Given the description of an element on the screen output the (x, y) to click on. 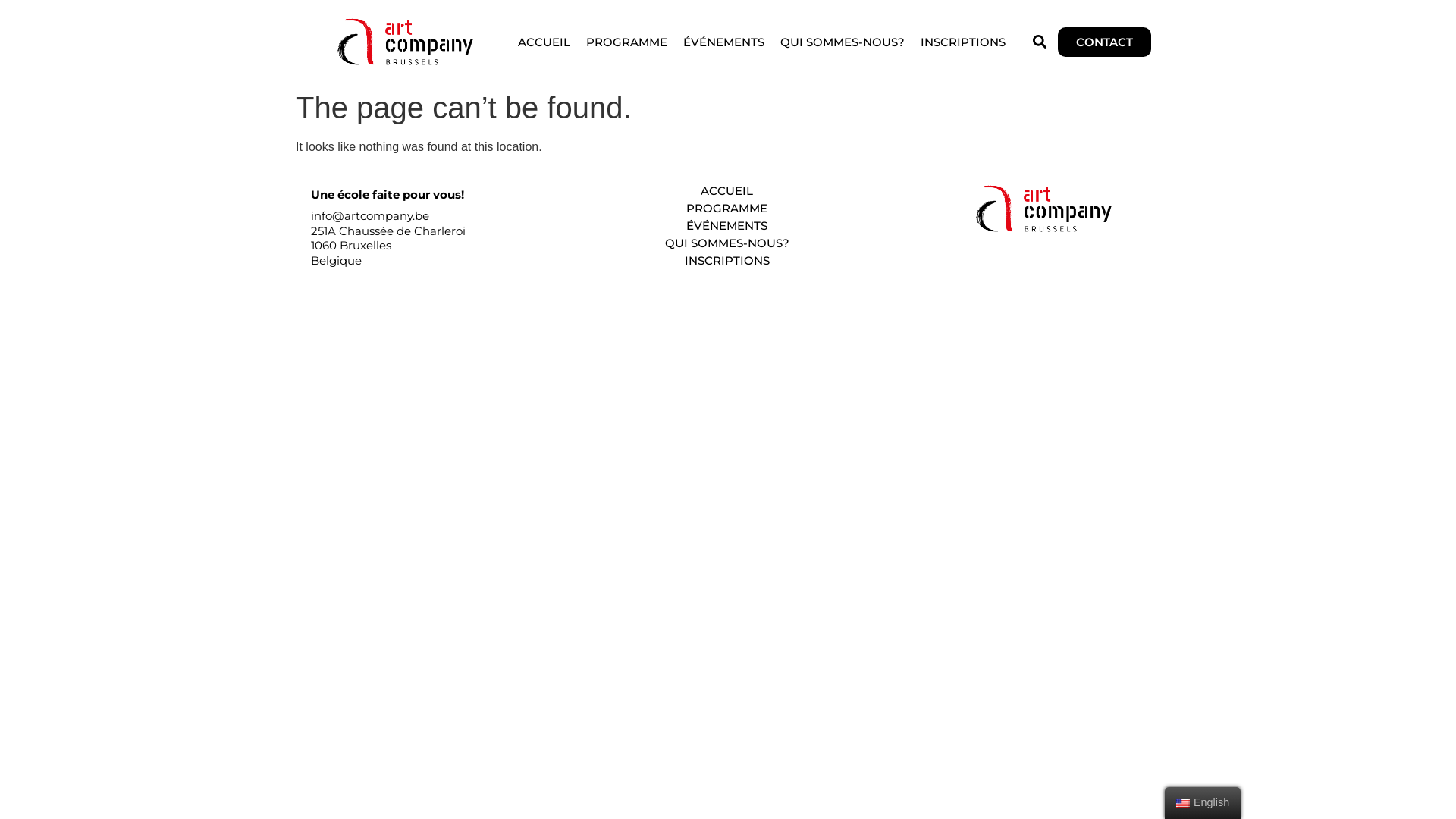
QUI SOMMES-NOUS? Element type: text (726, 242)
QUI SOMMES-NOUS? Element type: text (842, 41)
PROGRAMME Element type: text (626, 41)
CONTACT Element type: text (1104, 41)
ACCUEIL Element type: text (543, 41)
ACCUEIL Element type: text (726, 190)
INSCRIPTIONS Element type: text (726, 260)
English Element type: hover (1182, 802)
PROGRAMME Element type: text (726, 207)
INSCRIPTIONS Element type: text (962, 41)
